Given the description of an element on the screen output the (x, y) to click on. 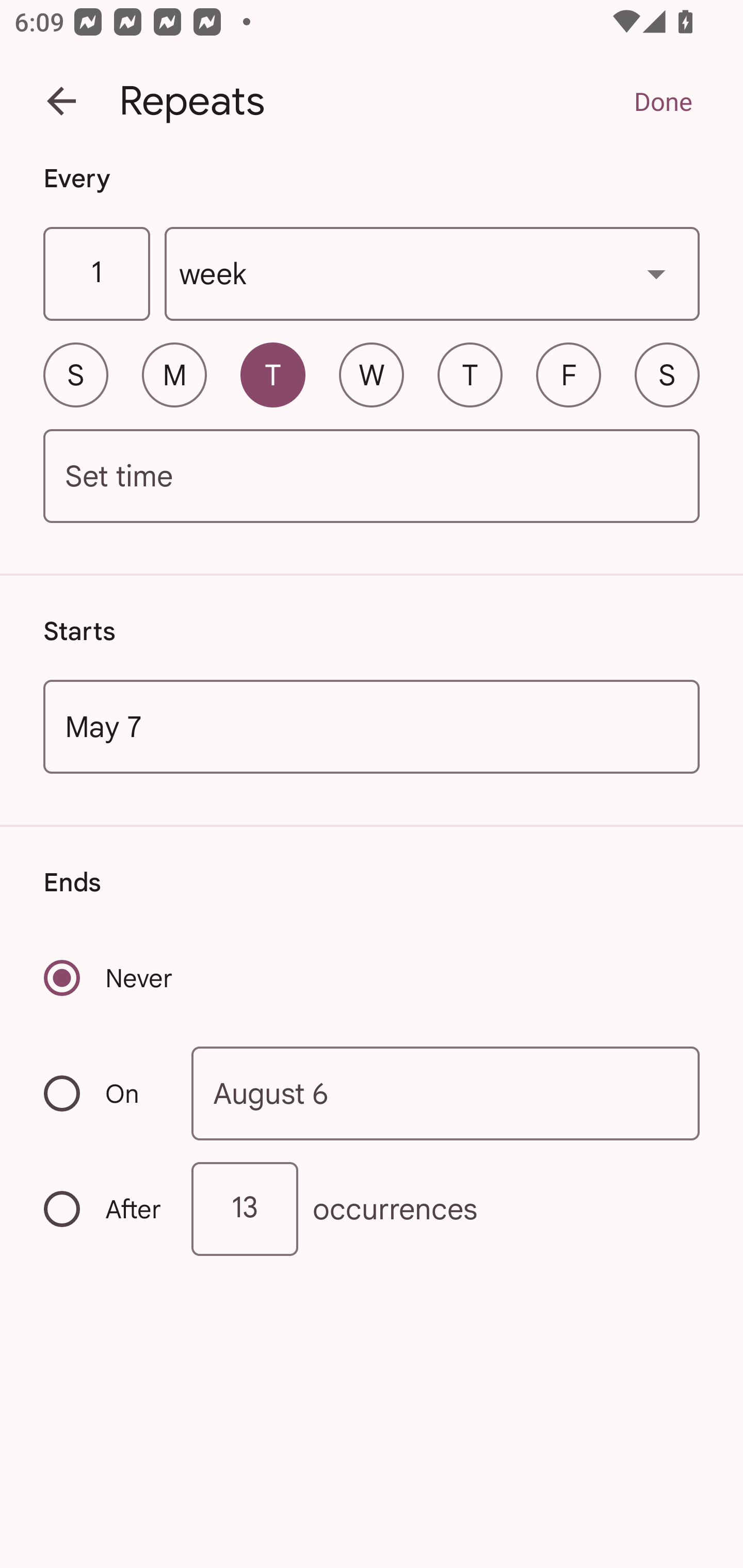
Back (61, 101)
Done (663, 101)
1 (96, 274)
week (431, 274)
Show dropdown menu (655, 273)
S Sunday (75, 374)
M Monday (173, 374)
T Tuesday, selected (272, 374)
W Wednesday (371, 374)
T Thursday (469, 374)
F Friday (568, 374)
S Saturday (666, 374)
Set time (371, 476)
May 7 (371, 726)
Never Recurrence never ends (109, 978)
August 6 (445, 1092)
On Recurrence ends on a specific date (104, 1093)
13 (244, 1208)
